Given the description of an element on the screen output the (x, y) to click on. 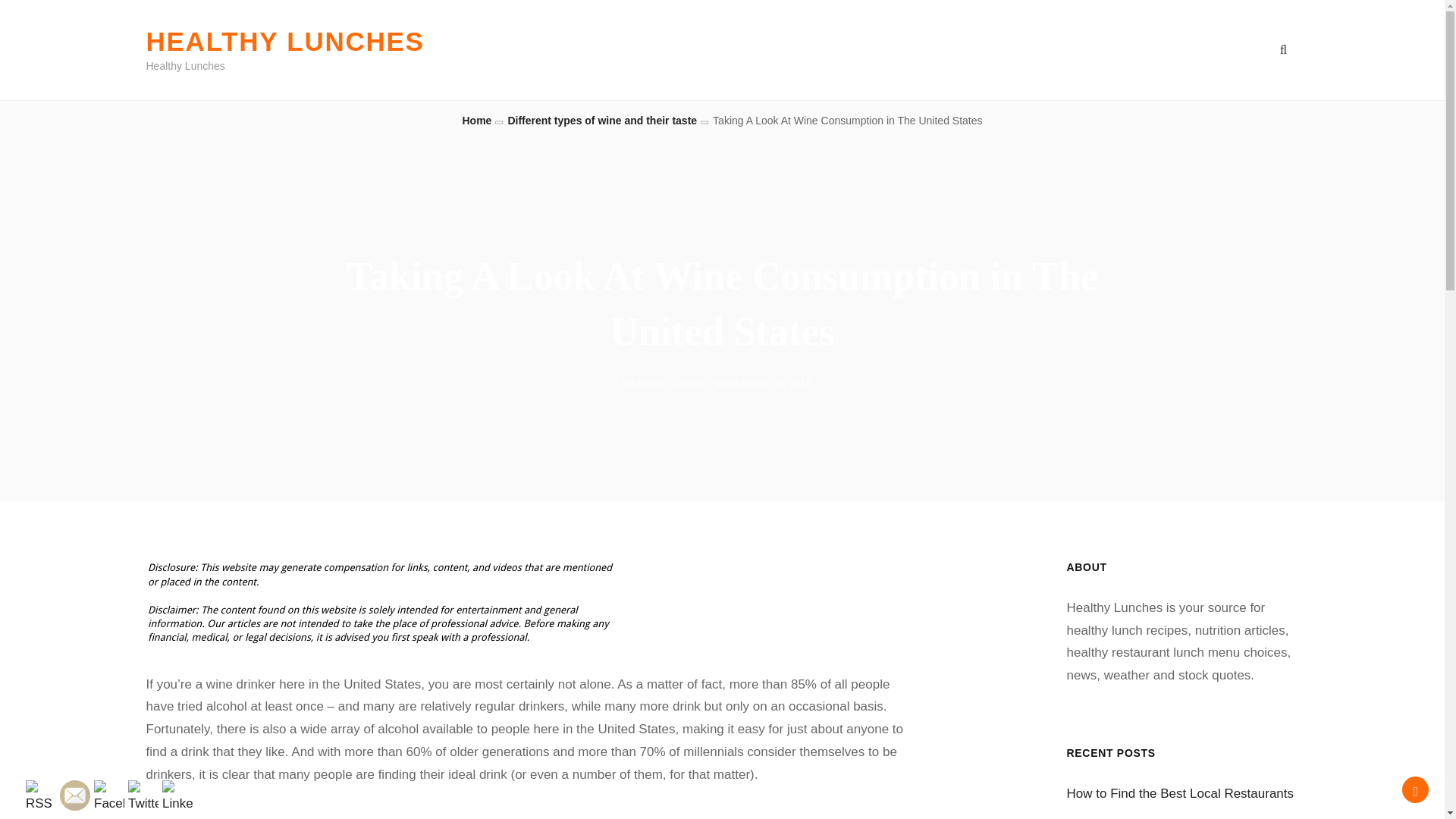
How to Find the Best Local Restaurants (1179, 793)
Scroll Up (1415, 789)
HEALTHY LUNCH (663, 383)
Different types of wine and their taste (601, 120)
Home (476, 120)
NOVEMBER 29, 2019 (761, 383)
Search (1283, 50)
HEALTHY LUNCHES (284, 41)
Follow by Email (74, 795)
